Given the description of an element on the screen output the (x, y) to click on. 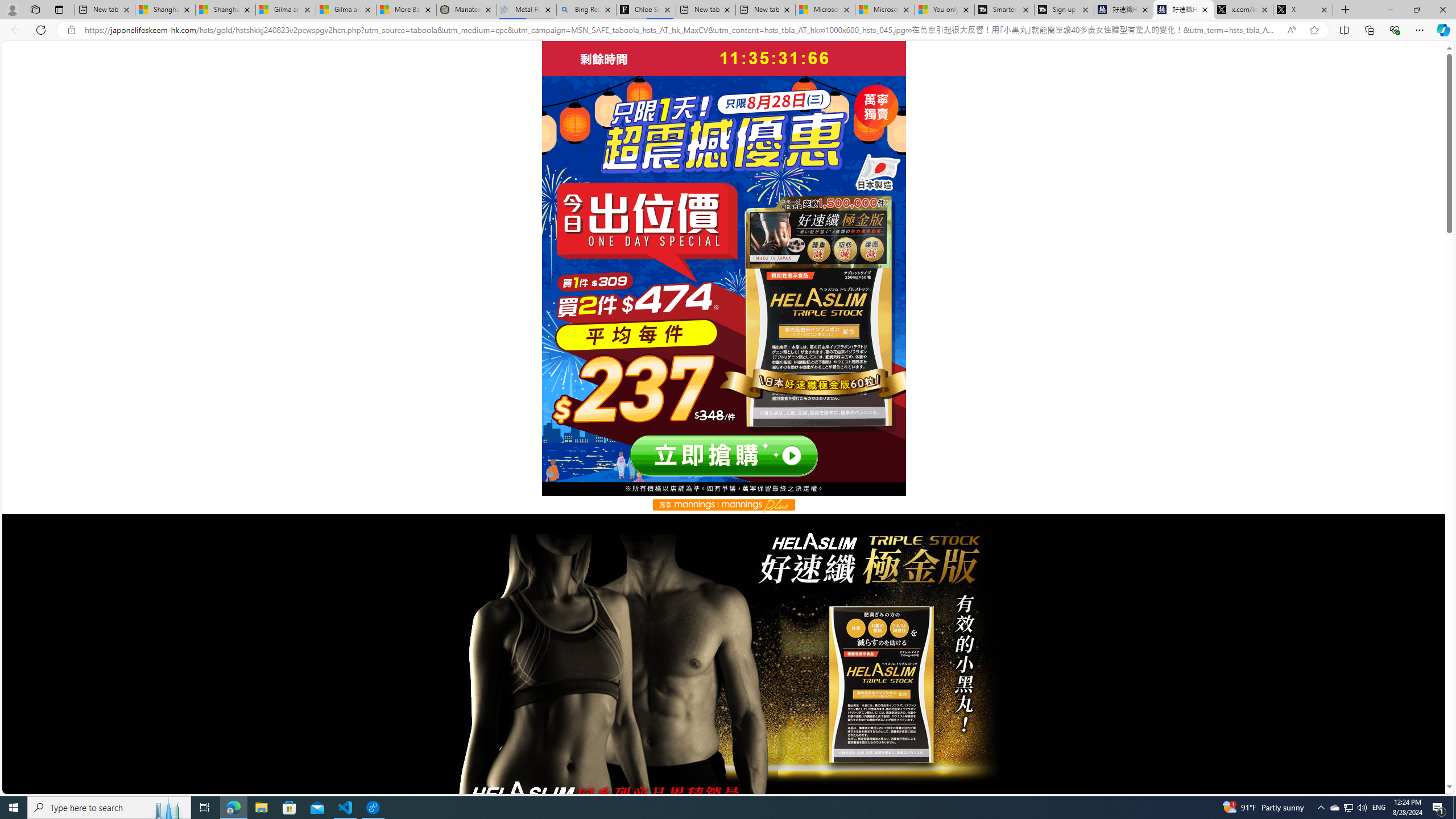
Gilma and Hector both pose tropical trouble for Hawaii (346, 9)
